Given the description of an element on the screen output the (x, y) to click on. 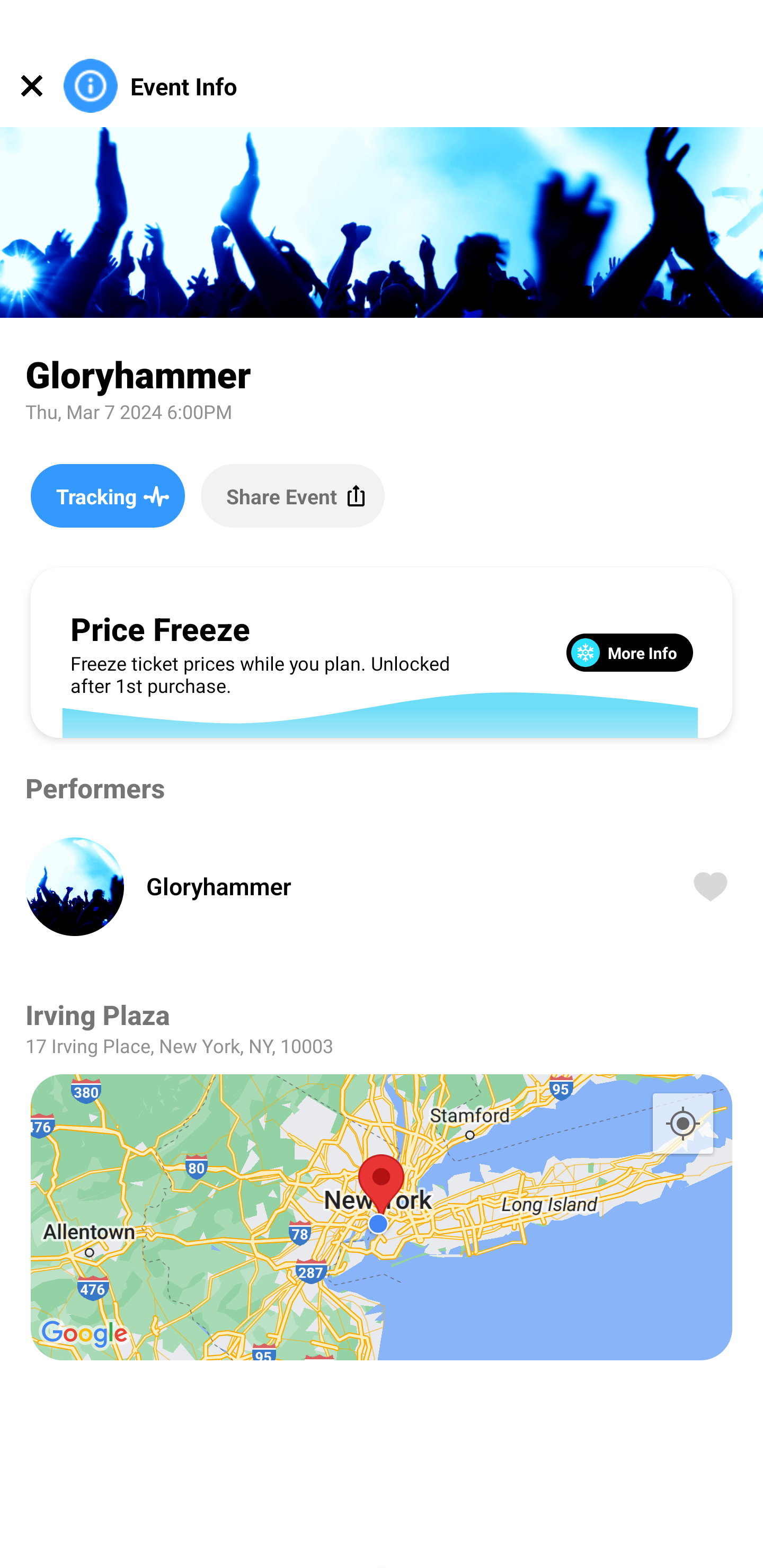
Tracking (107, 495)
Share Event (292, 495)
More Info (629, 652)
Gloryhammer (394, 886)
Google Map Irving Plaza My Location (381, 1217)
My Location (682, 1123)
